Given the description of an element on the screen output the (x, y) to click on. 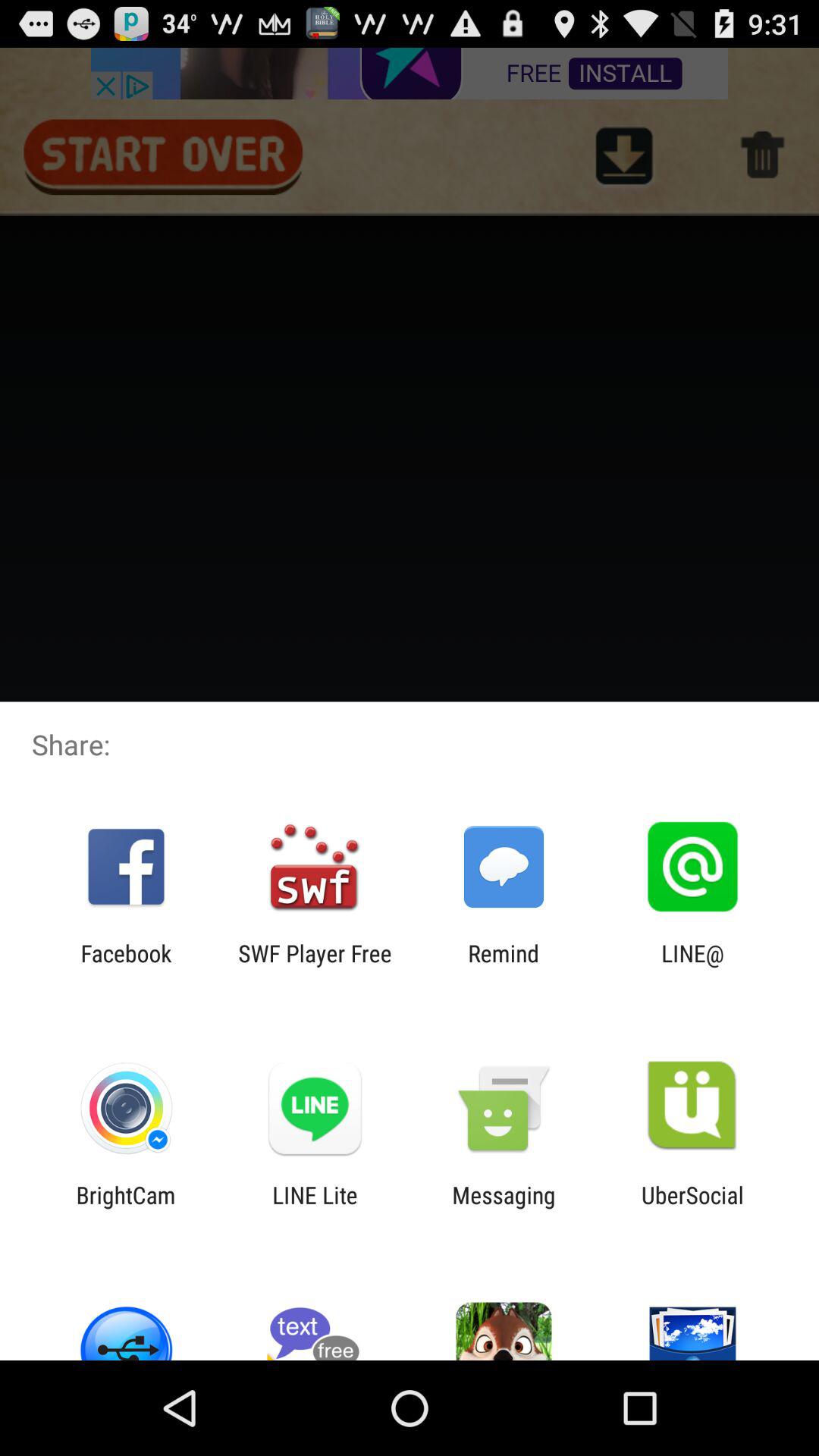
swipe until the brightcam icon (125, 1208)
